Given the description of an element on the screen output the (x, y) to click on. 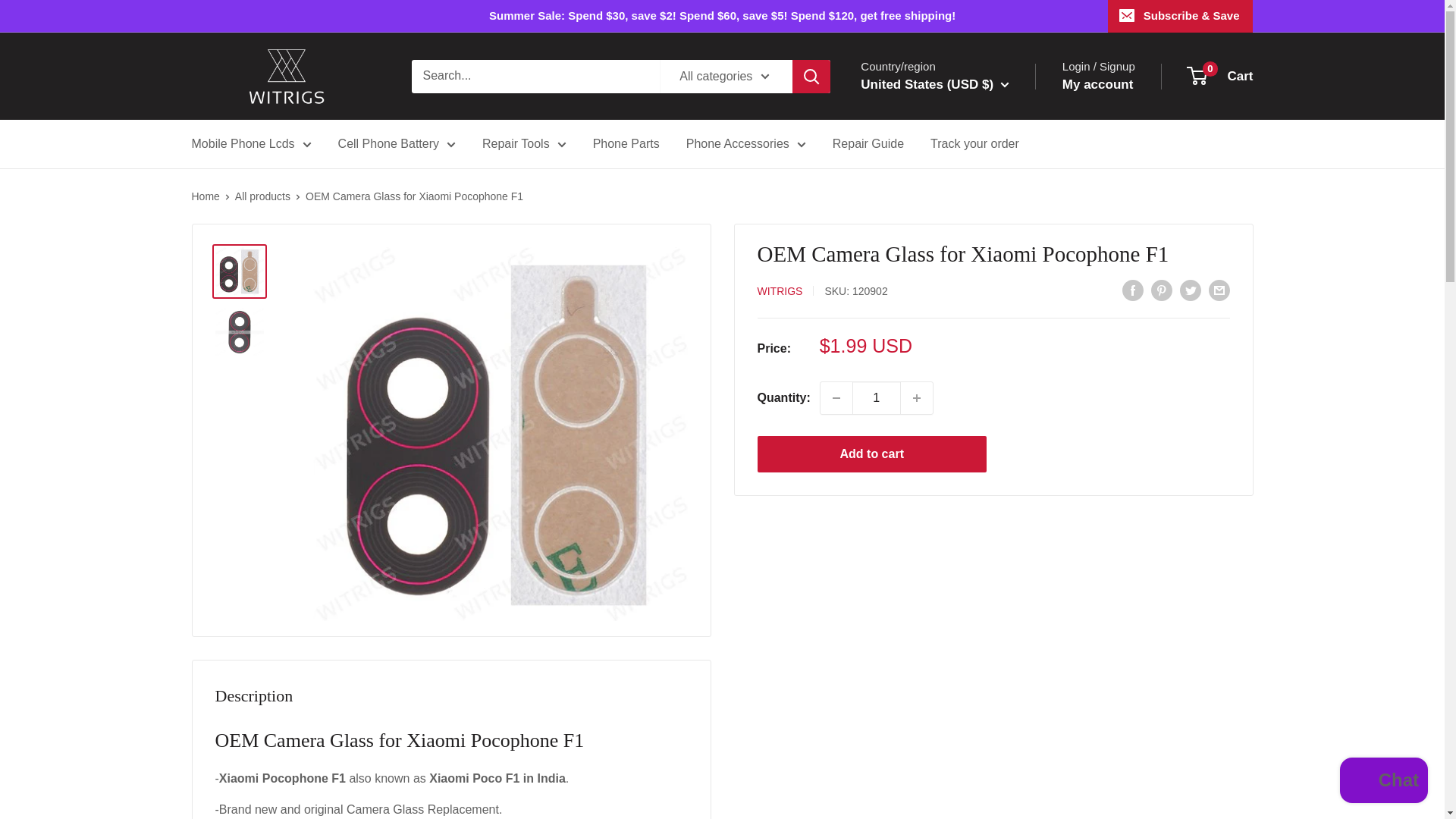
Decrease quantity by 1 (836, 398)
Increase quantity by 1 (917, 398)
Shopify online store chat (1383, 781)
1 (876, 398)
